Given the description of an element on the screen output the (x, y) to click on. 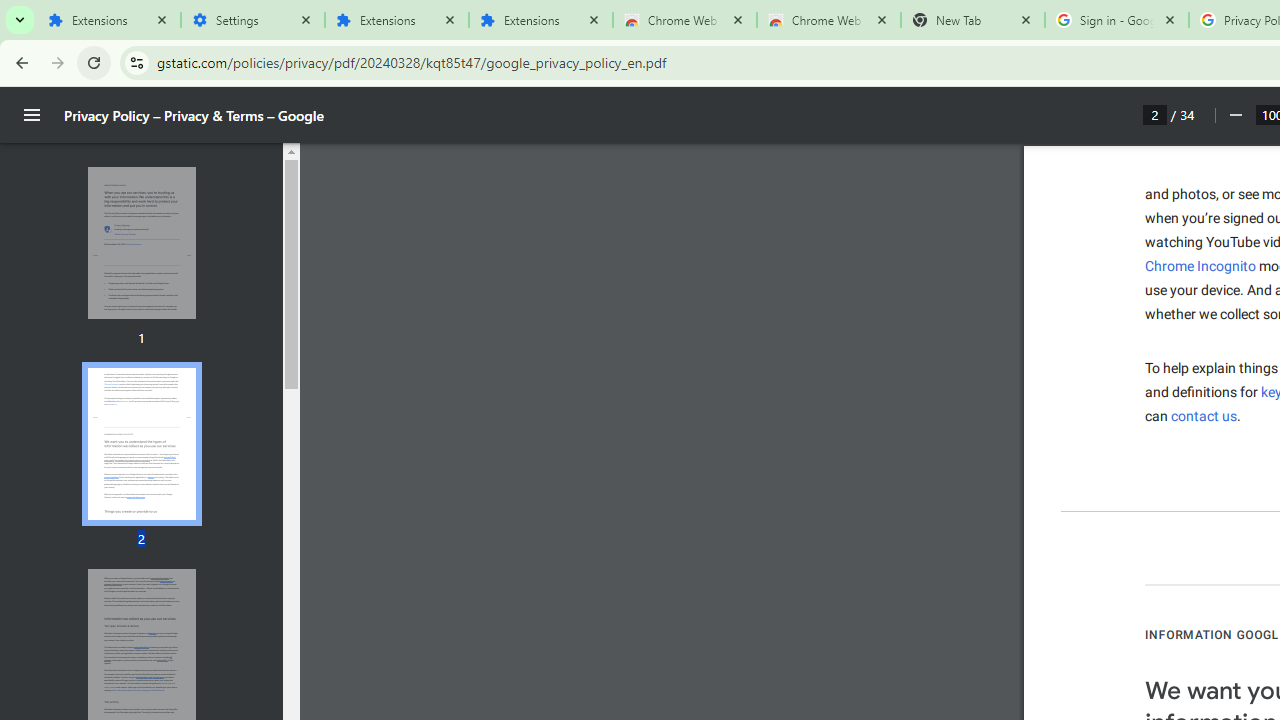
Page number (1155, 114)
Chrome Web Store (684, 20)
Chrome Incognito (1200, 266)
New Tab (972, 20)
Chrome Web Store - Themes (828, 20)
Extensions (396, 20)
Zoom out (1234, 115)
